Given the description of an element on the screen output the (x, y) to click on. 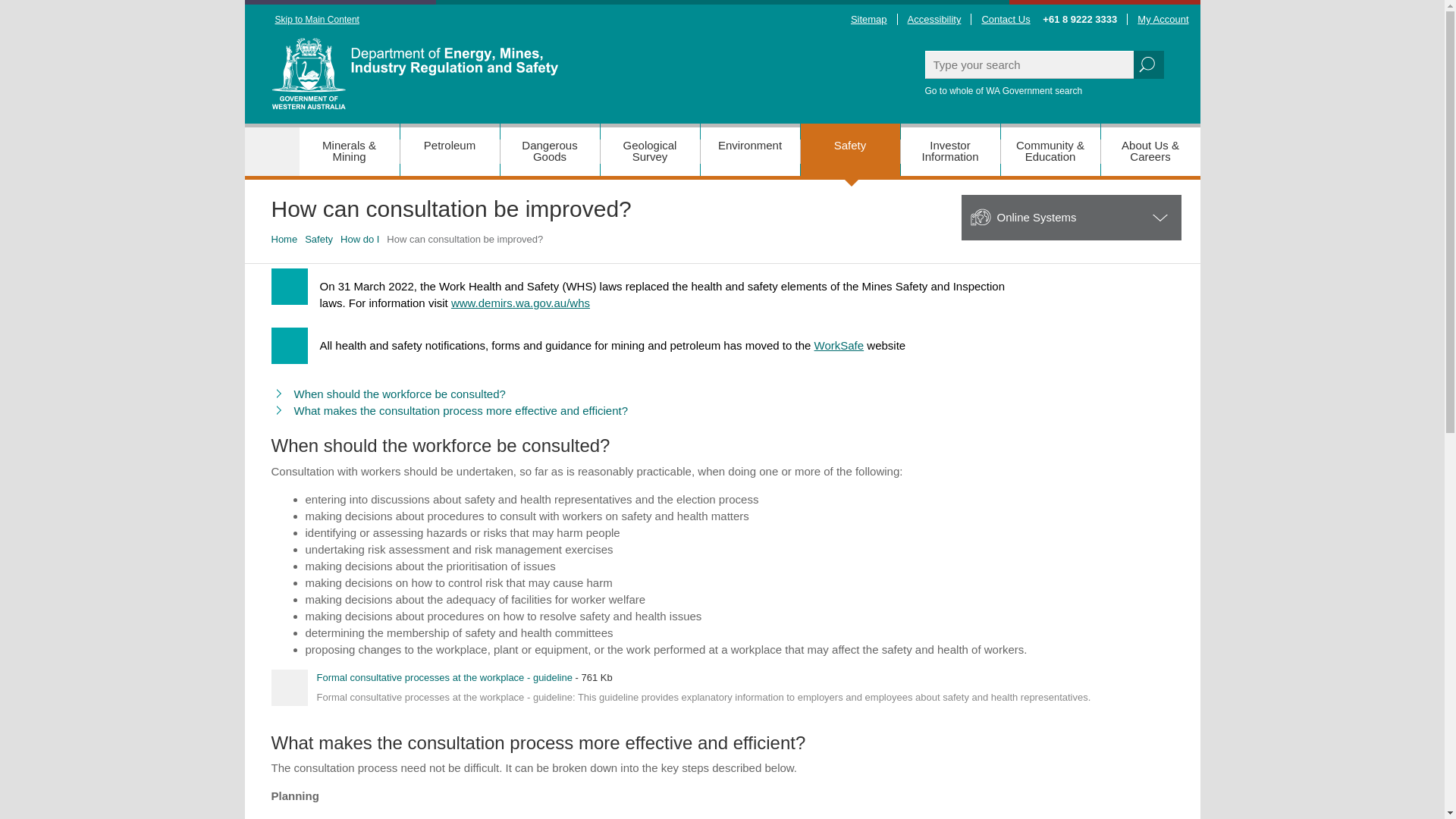
SEARCH (1147, 64)
Go to whole of WA Government search (1043, 90)
Skip to Main Content (301, 19)
Department of Energy, Mines, Industry Regulation and Safety (458, 79)
